Given the description of an element on the screen output the (x, y) to click on. 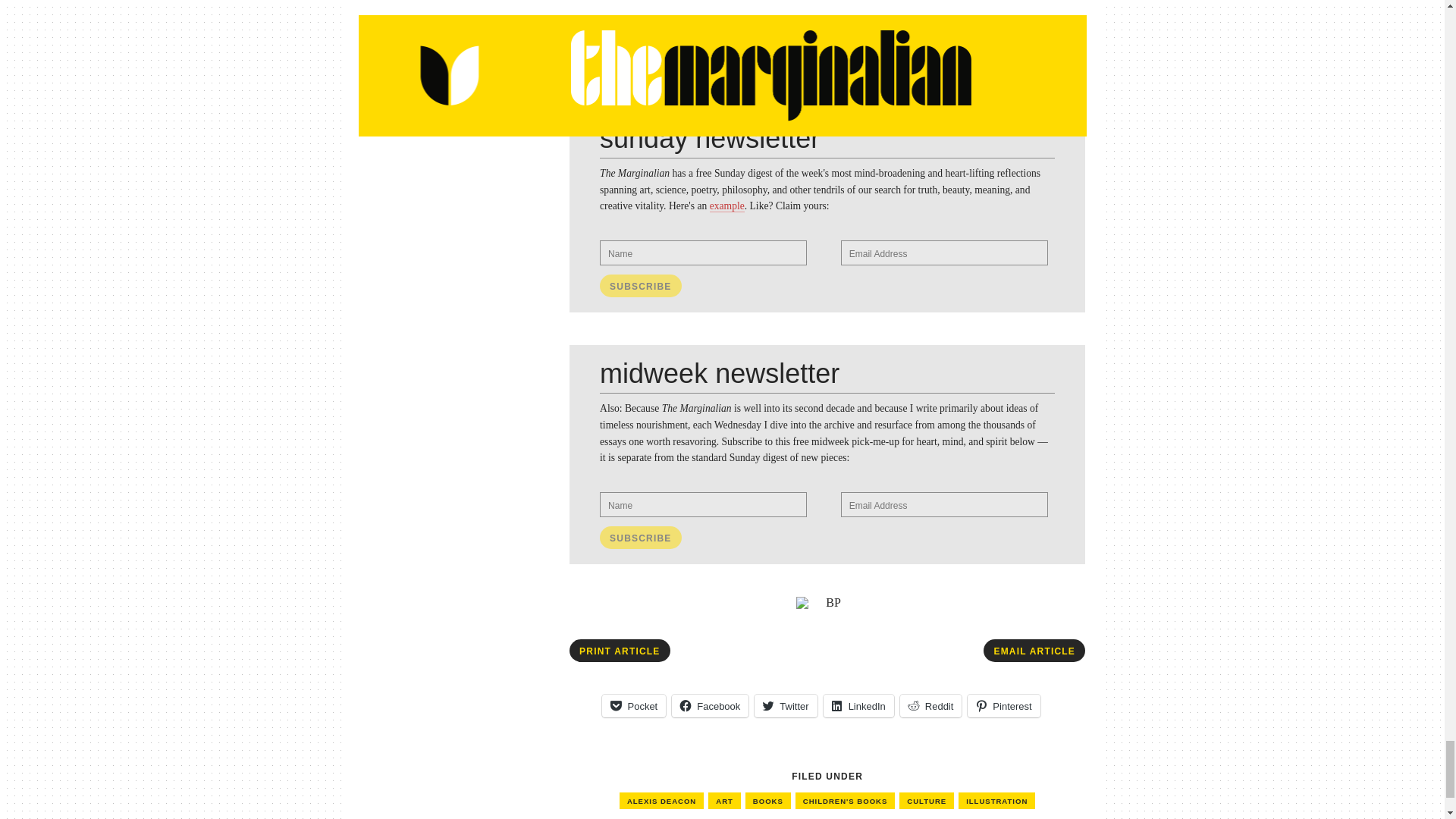
Subscribe (640, 537)
Subscribe (640, 285)
Click to share on Twitter (785, 705)
Click to share on Pinterest (1003, 705)
Click to share on Reddit (930, 705)
Click to share on LinkedIn (858, 705)
Click to share on Pocket (633, 705)
Click to share on Facebook (709, 705)
